Given the description of an element on the screen output the (x, y) to click on. 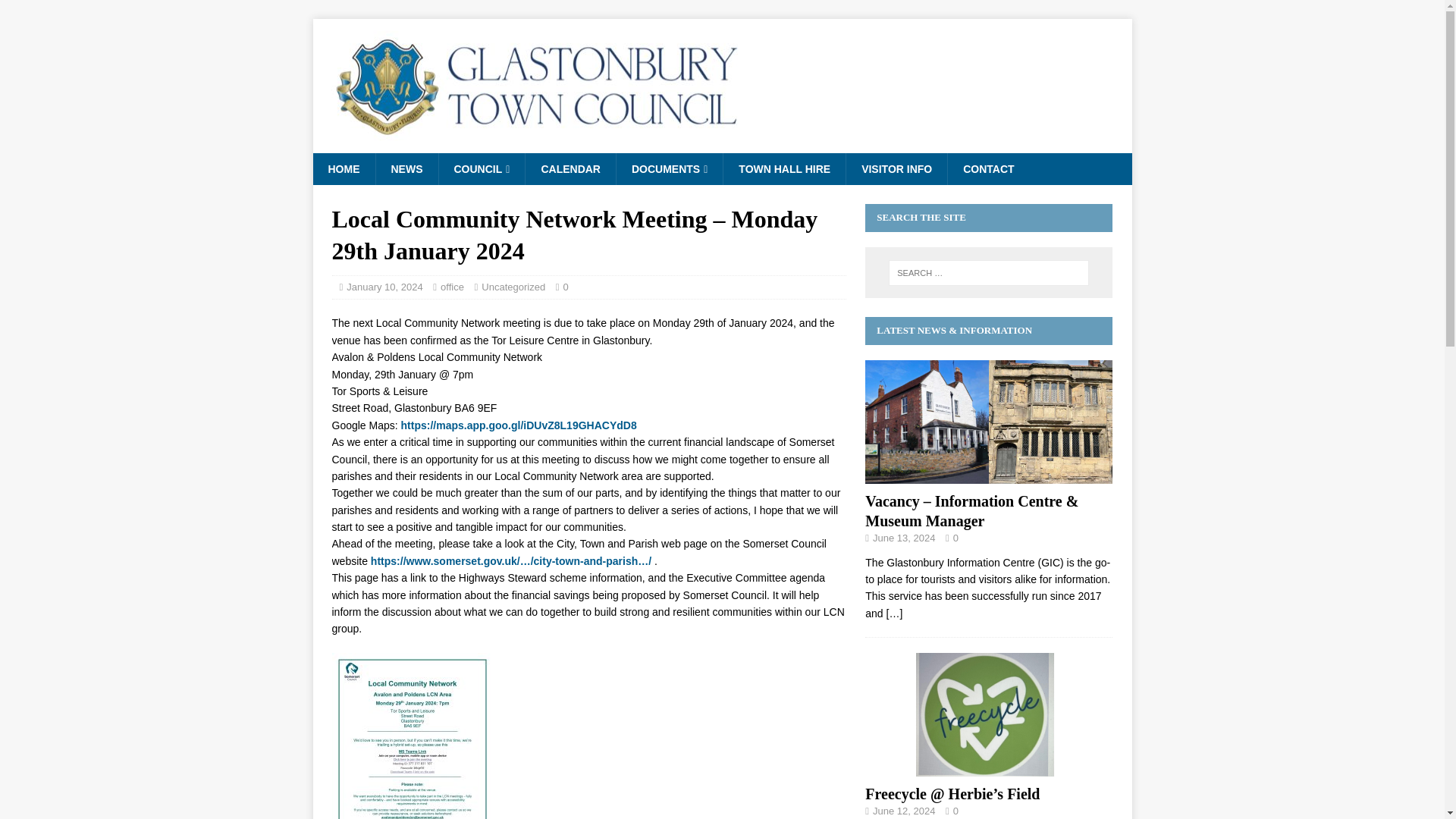
Glastonbury Town Council (722, 144)
